Given the description of an element on the screen output the (x, y) to click on. 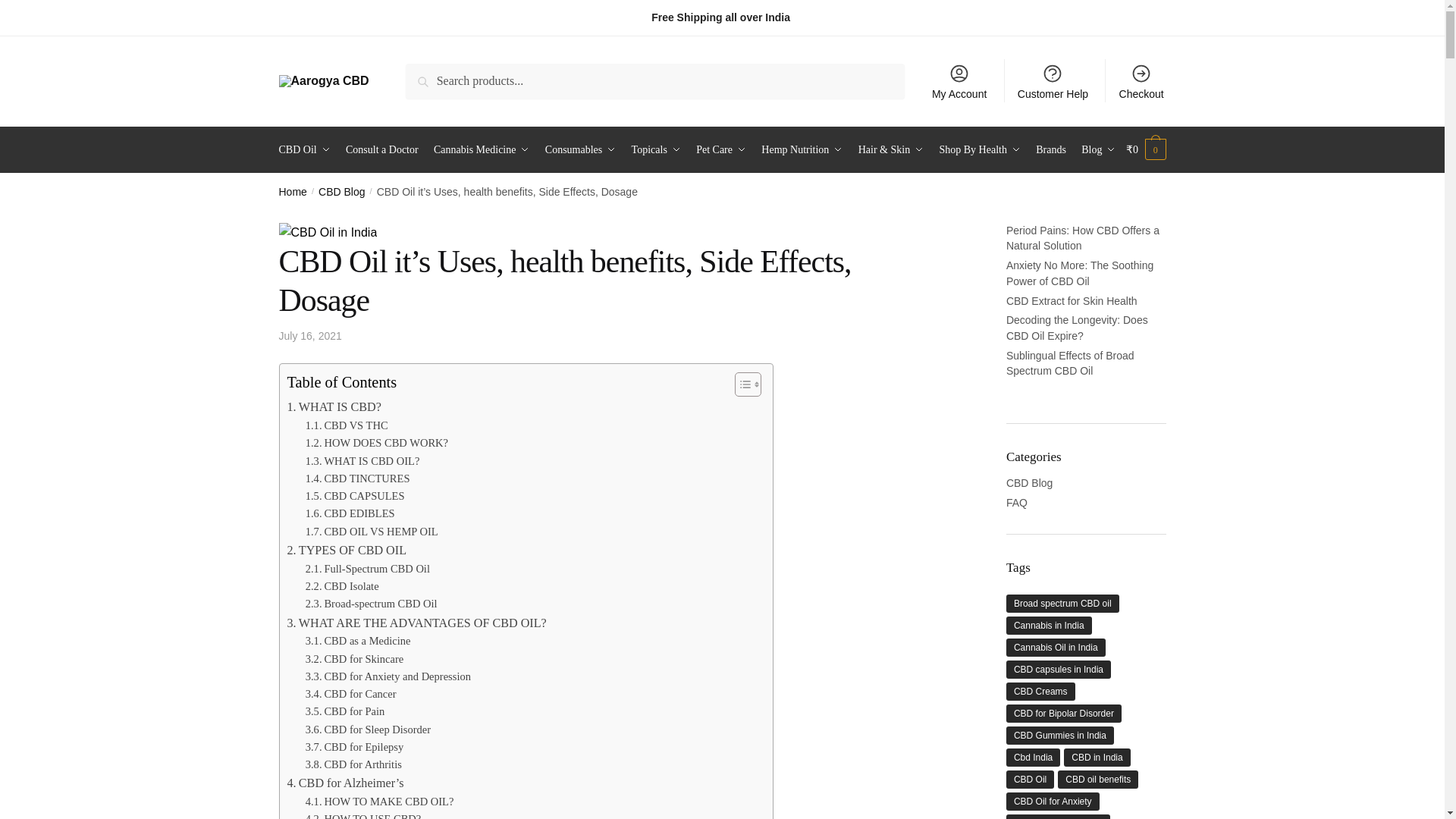
Customer Help (1053, 80)
Checkout (1141, 80)
Search (427, 74)
Full-Spectrum CBD Oil (367, 569)
Pet Care (720, 149)
WHAT IS CBD? (333, 406)
CBD VS THC (346, 425)
Hemp Nutrition (801, 149)
HOW DOES CBD WORK? (376, 443)
Cannabis Medicine (481, 149)
CBD EDIBLES (349, 513)
Topicals (656, 149)
Consult a Doctor (381, 149)
 CBD TINCTURES (357, 478)
